Given the description of an element on the screen output the (x, y) to click on. 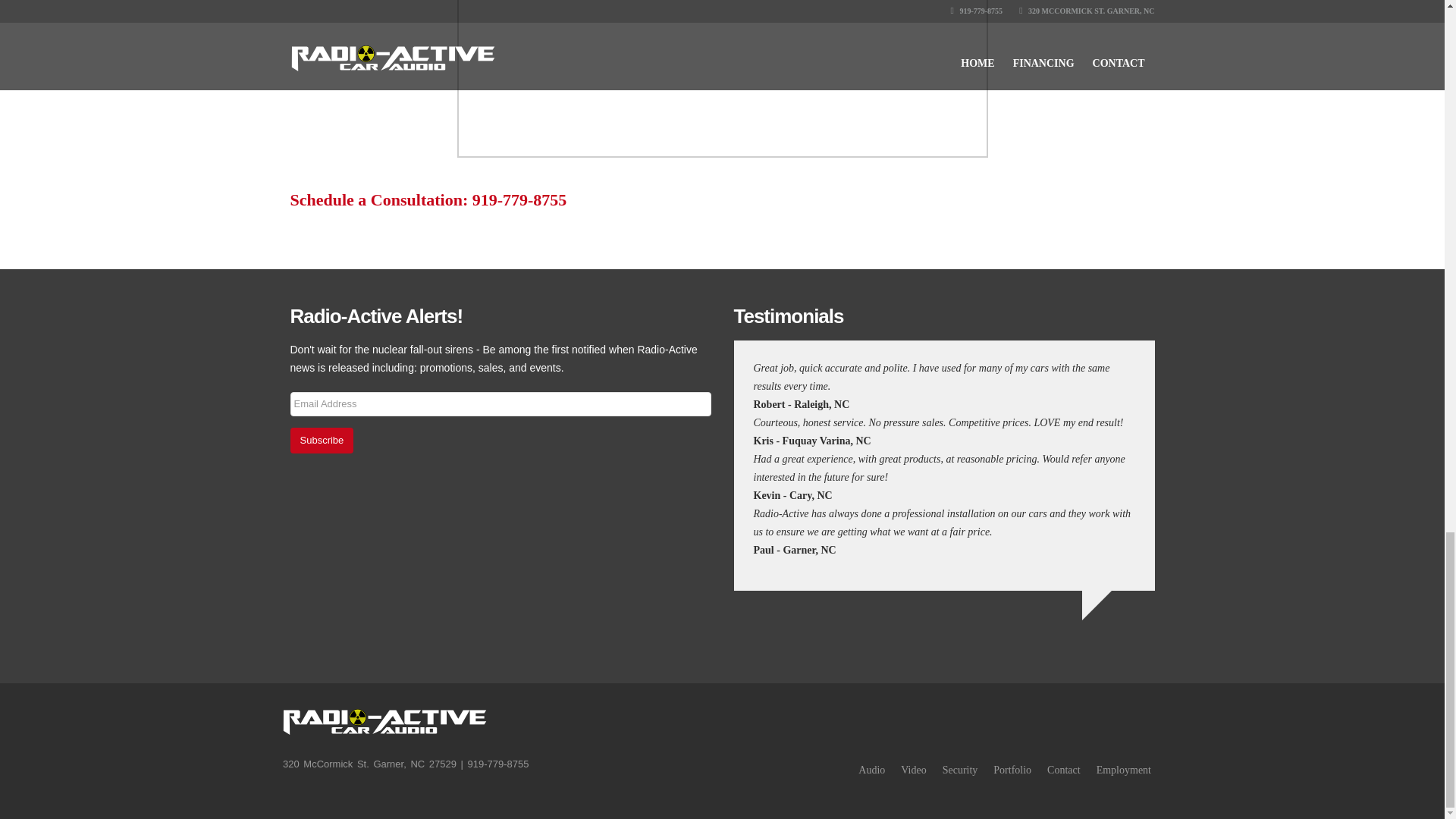
Contact (1063, 769)
Subscribe (321, 440)
Audio (872, 769)
Security (960, 769)
Employment (1123, 769)
Portfolio (1011, 769)
Video (913, 769)
